Given the description of an element on the screen output the (x, y) to click on. 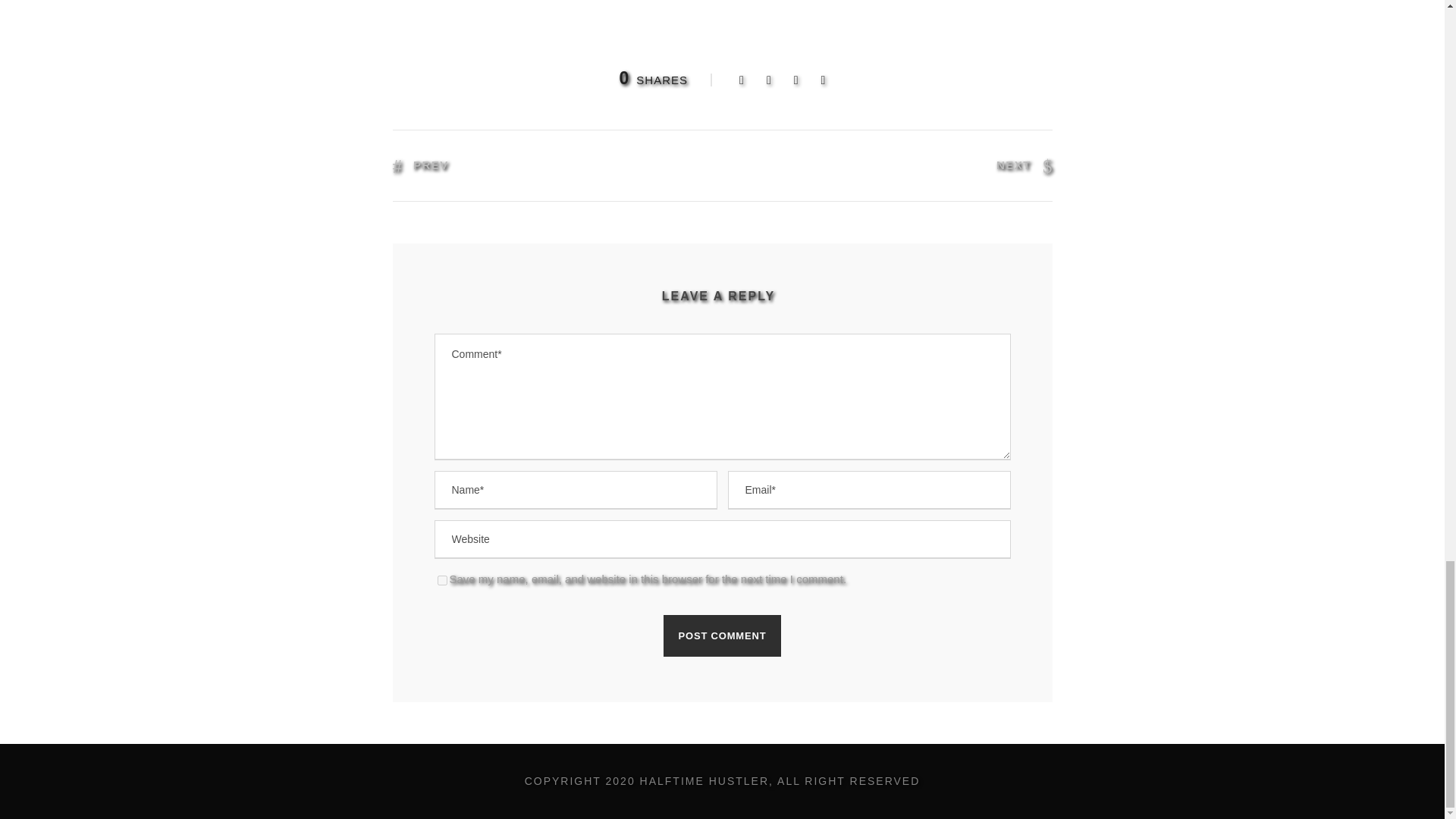
yes (441, 580)
Post Comment (722, 635)
